Given the description of an element on the screen output the (x, y) to click on. 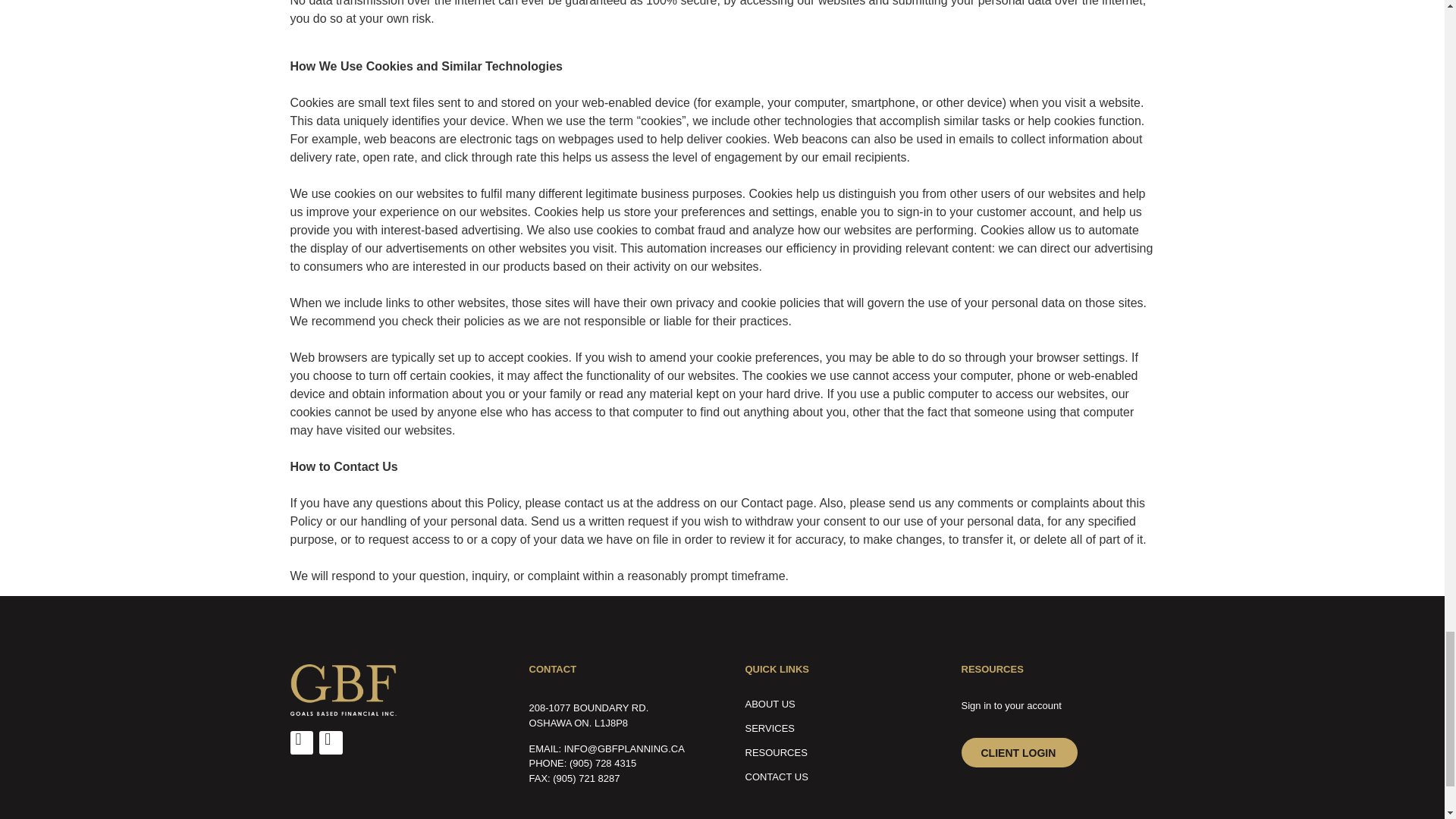
ABOUT US (829, 704)
SERVICES (829, 728)
CLIENT LOGIN (1019, 752)
CONTACT US (829, 776)
RESOURCES (829, 752)
